Given the description of an element on the screen output the (x, y) to click on. 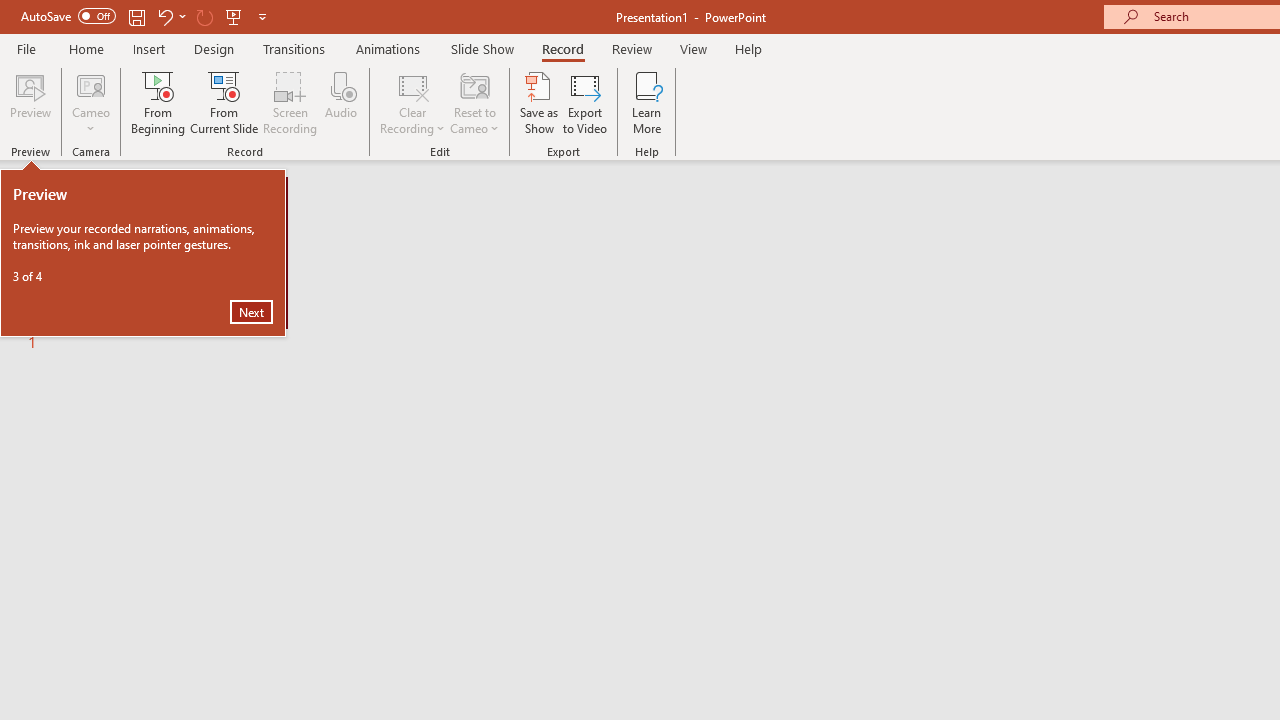
Next (251, 312)
Reset to Cameo (474, 102)
From Beginning... (158, 102)
Clear Recording (412, 102)
Save as Show (539, 102)
